Given the description of an element on the screen output the (x, y) to click on. 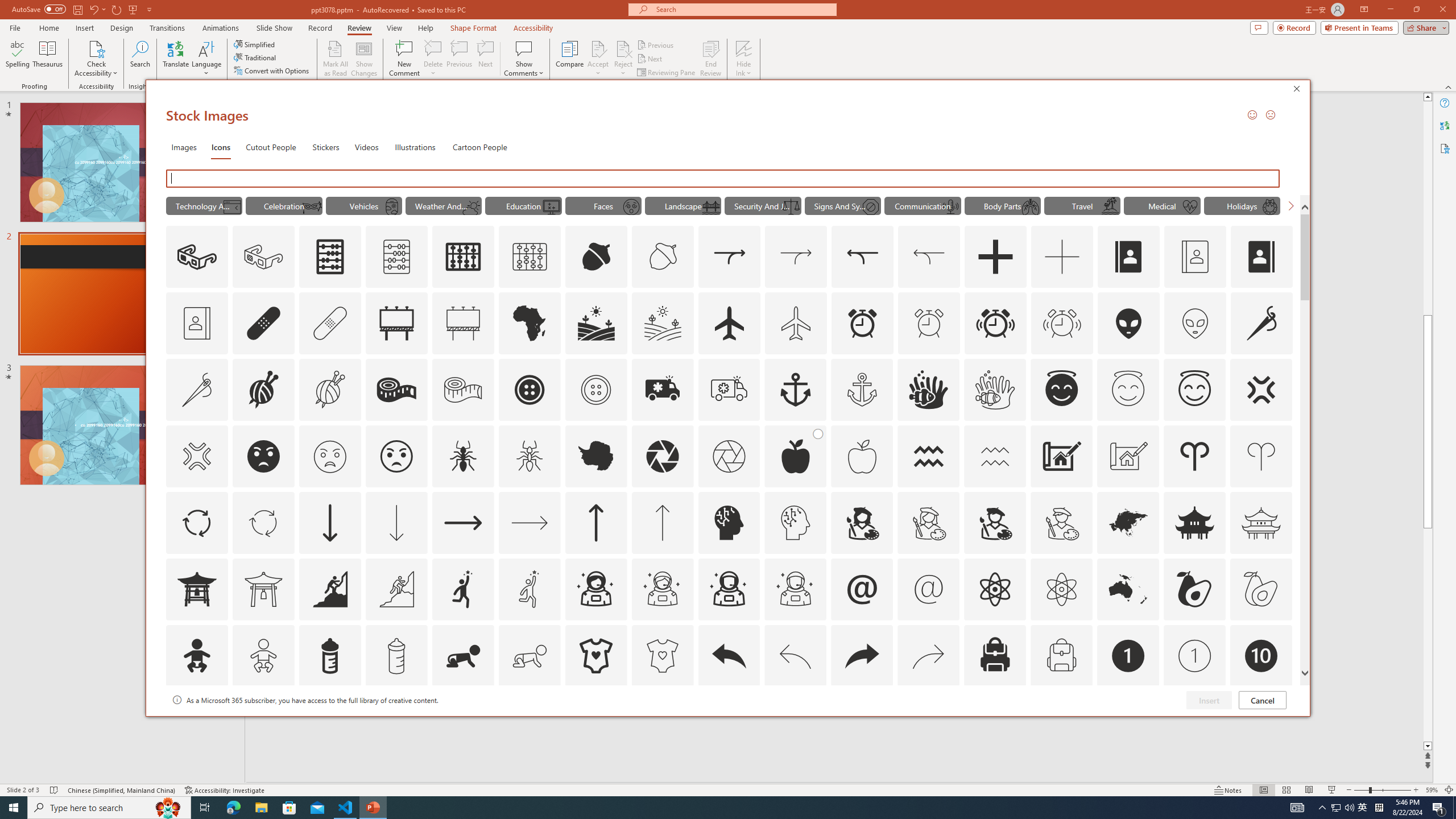
AutomationID: Icons_ArrowUp_M (662, 522)
AutomationID: Icons_Ambulance_M (729, 389)
Next (649, 58)
AutomationID: Icons_ArrowRight (462, 522)
AutomationID: Icons_Agriculture_M (663, 323)
Reviewing Pane (666, 72)
